Given the description of an element on the screen output the (x, y) to click on. 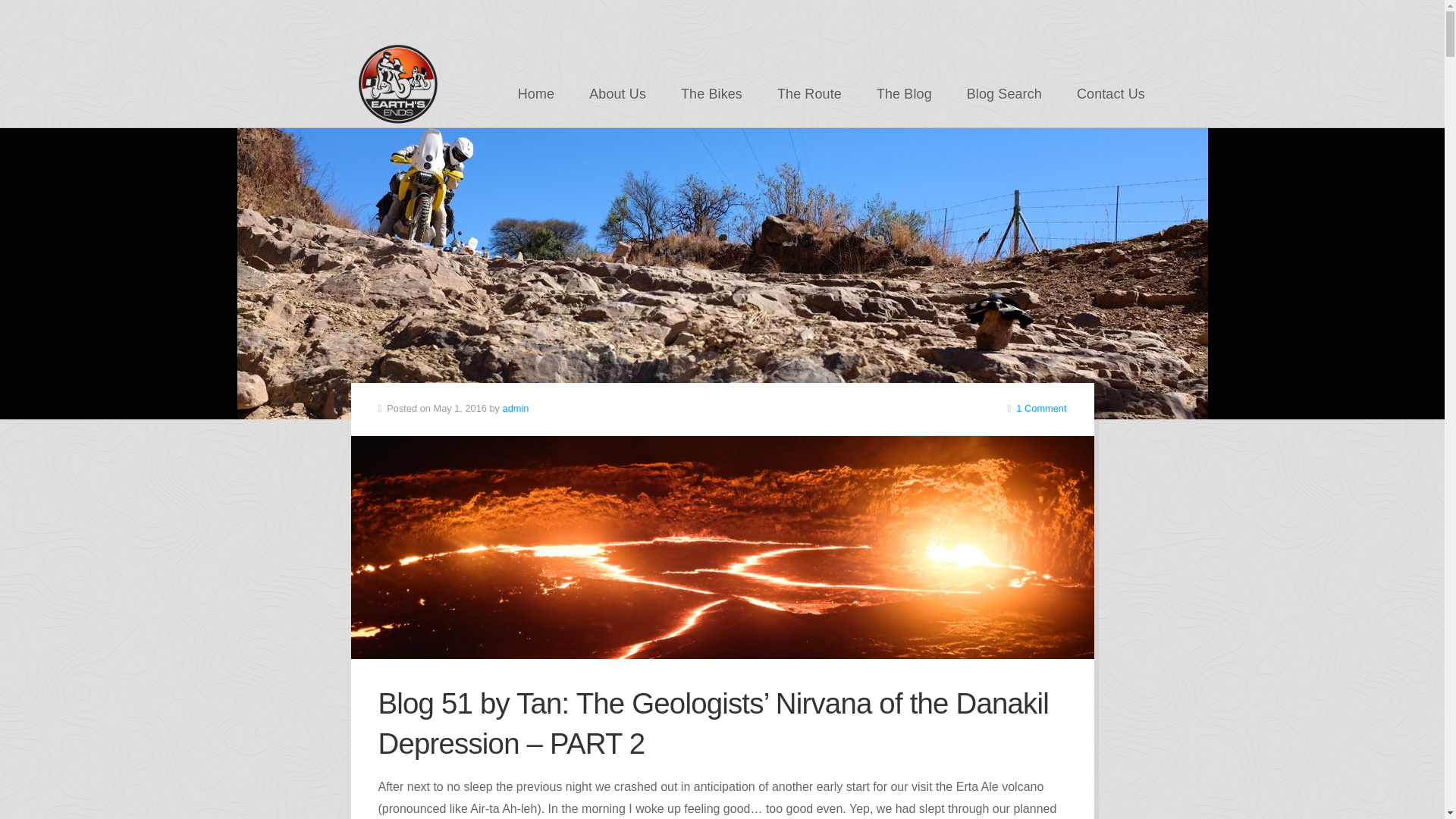
About Us (617, 93)
admin (515, 408)
Blog Search (1004, 93)
Home (536, 93)
1 Comment (1040, 408)
Earths-Ends (396, 83)
Contact Us (1110, 93)
Posts by admin (515, 408)
1 Comment (1040, 408)
The Bikes (711, 93)
The Route (809, 93)
The Blog (904, 93)
